Given the description of an element on the screen output the (x, y) to click on. 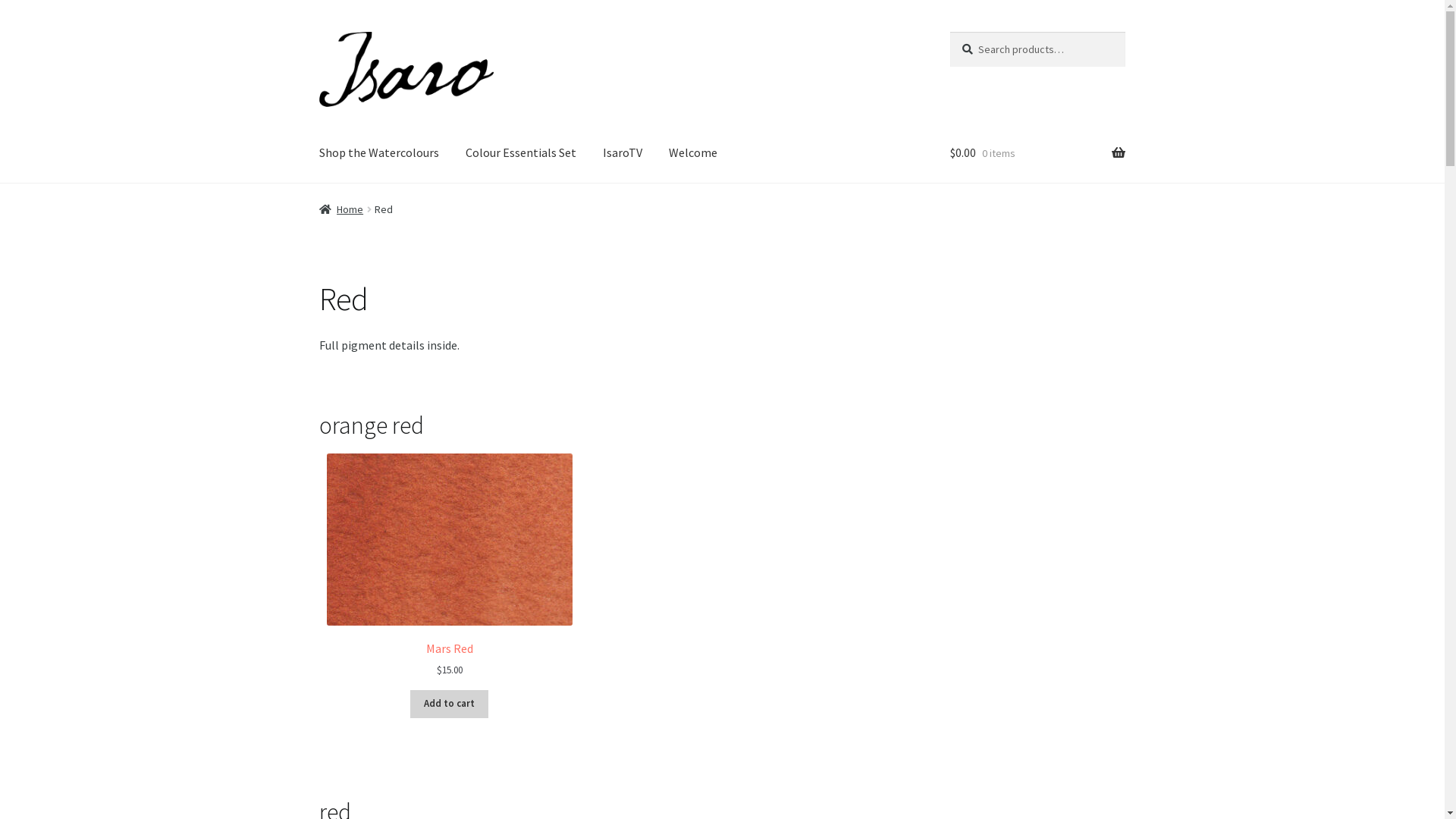
Mars Red Element type: text (449, 554)
$0.00 0 items Element type: text (1037, 152)
Skip to navigation Element type: text (318, 31)
Colour Essentials Set Element type: text (520, 152)
Search Element type: text (949, 31)
Welcome Element type: text (692, 152)
Shop the Watercolours Element type: text (379, 152)
Home Element type: text (341, 209)
Add to cart Element type: text (449, 704)
IsaroTV Element type: text (622, 152)
